Given the description of an element on the screen output the (x, y) to click on. 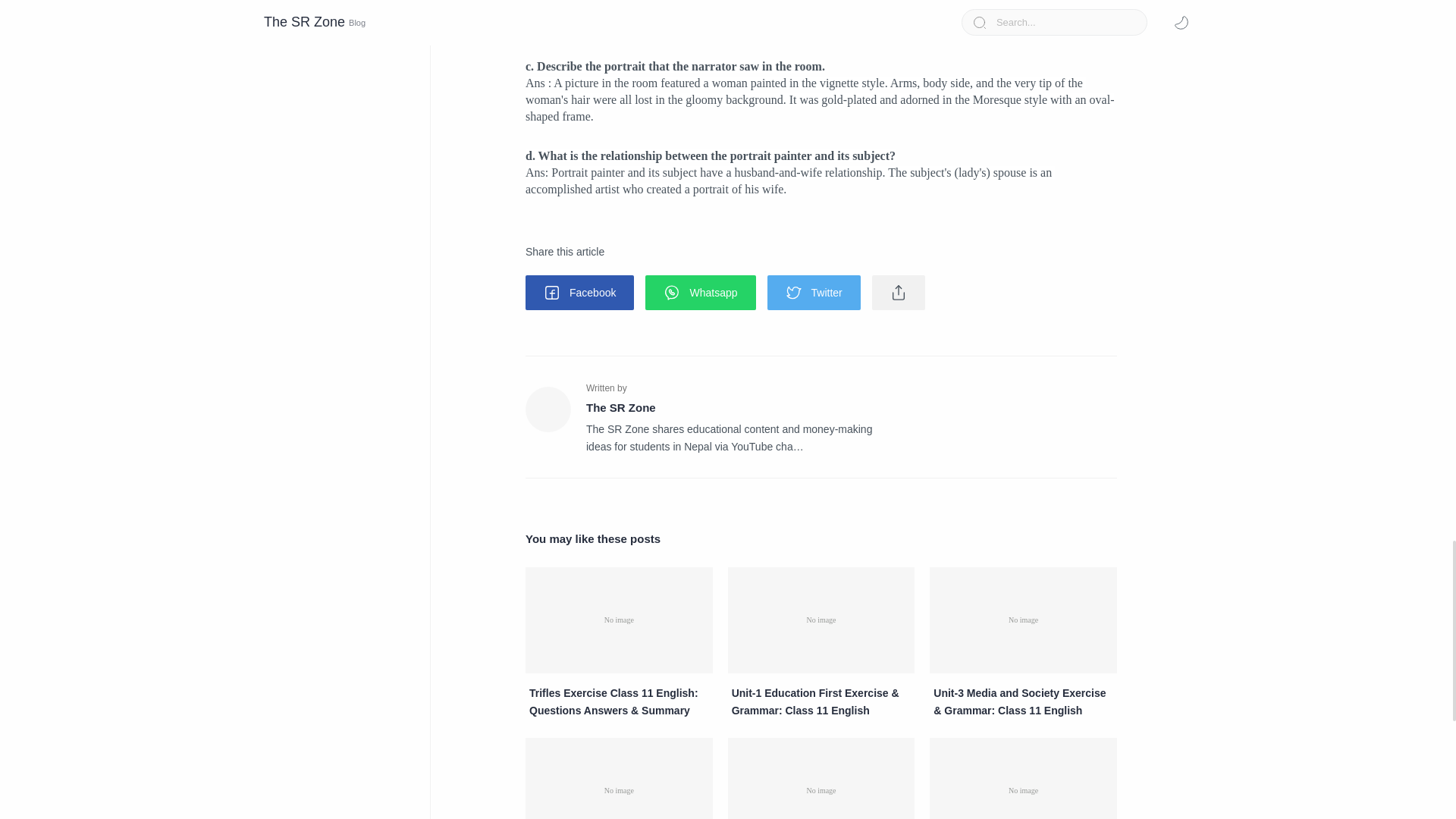
Share to Twitter (813, 292)
Share to Facebook (579, 292)
Share to Whatsapp (700, 292)
